Given the description of an element on the screen output the (x, y) to click on. 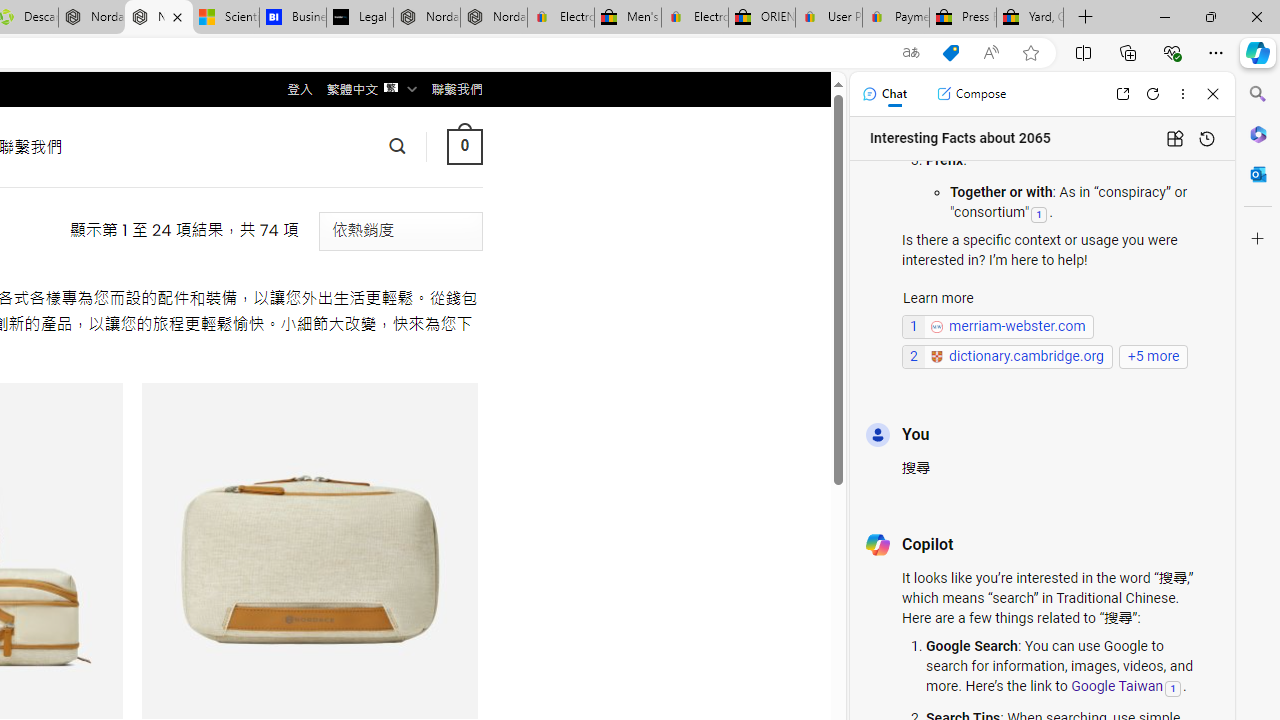
  0   (464, 146)
This site has coupons! Shopping in Microsoft Edge (950, 53)
Press Room - eBay Inc. (962, 17)
 0  (464, 146)
